Given the description of an element on the screen output the (x, y) to click on. 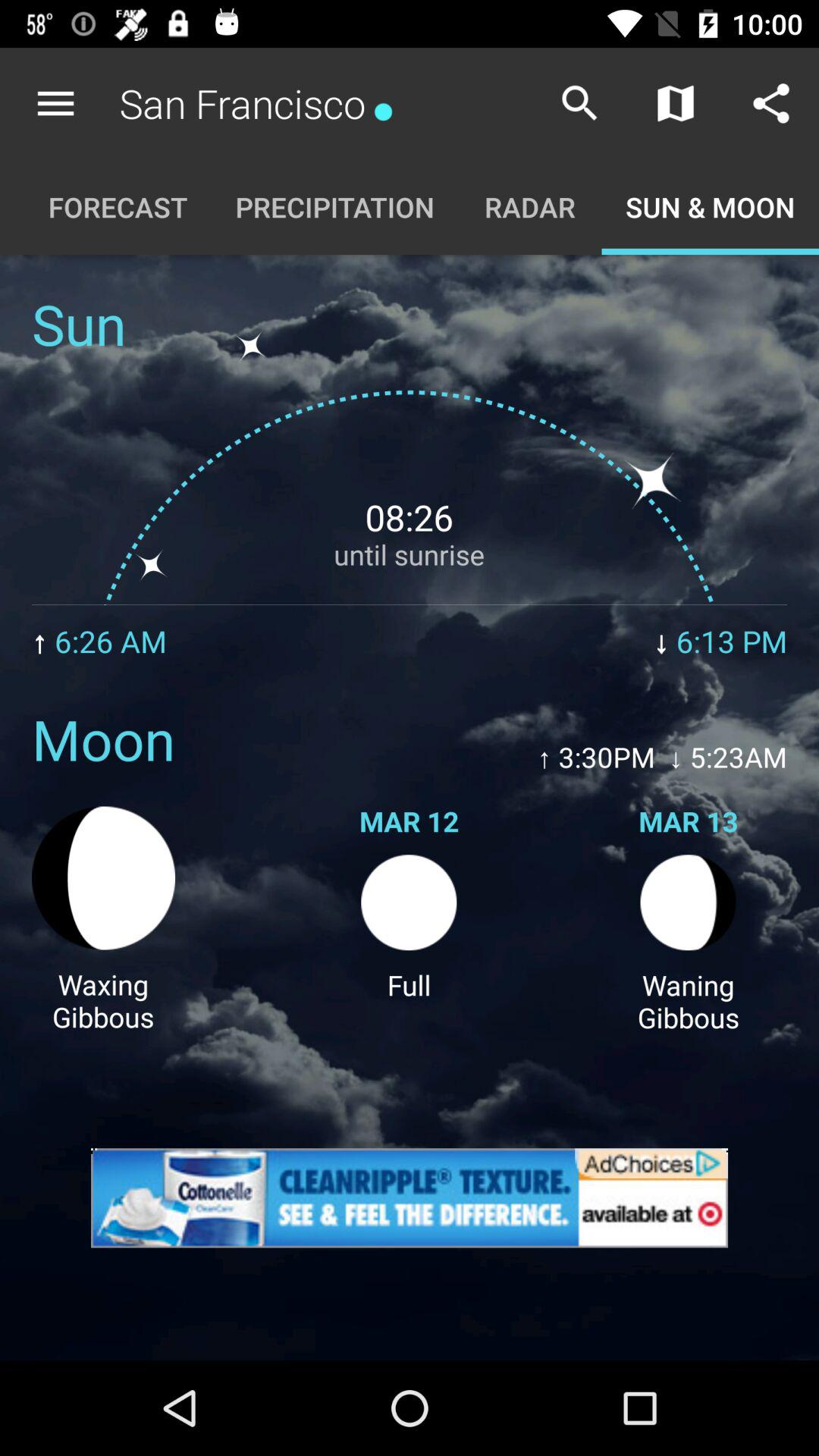
launch item above the forecast (55, 103)
